Given the description of an element on the screen output the (x, y) to click on. 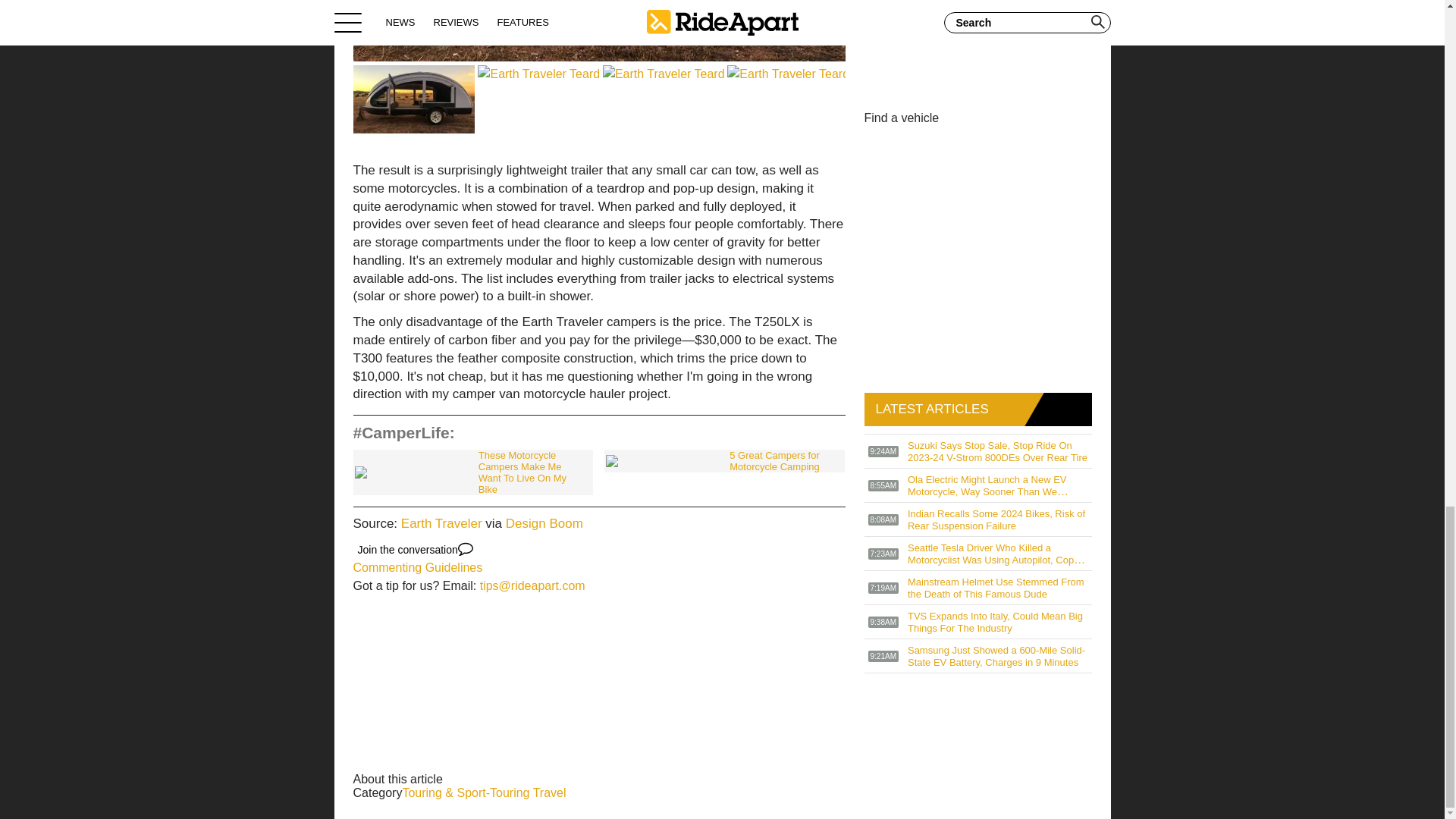
Design Boom (544, 523)
Earth Traveler (441, 523)
Join the conversation (415, 549)
These Motorcycle Campers Make Me Want To Live On My Bike (473, 472)
Commenting Guidelines (418, 567)
5 Great Campers for Motorcycle Camping (724, 460)
